Given the description of an element on the screen output the (x, y) to click on. 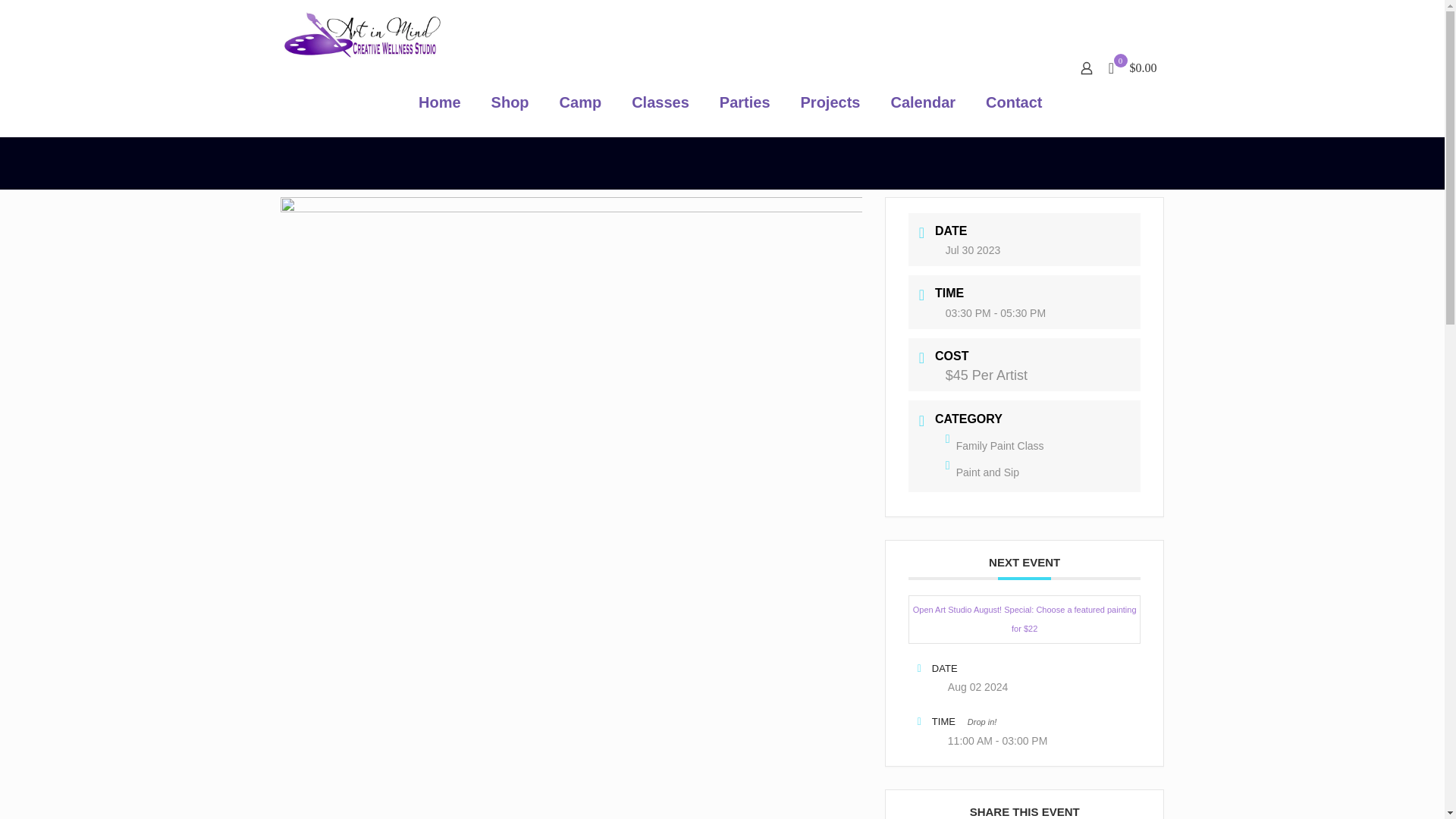
Calendar (923, 101)
Contact (1014, 101)
Projects (831, 101)
Art in Mind (361, 33)
Classes (659, 101)
Parties (745, 101)
Paint and Sip (981, 472)
Family Paint Class (993, 445)
Home (439, 101)
Camp (580, 101)
